Given the description of an element on the screen output the (x, y) to click on. 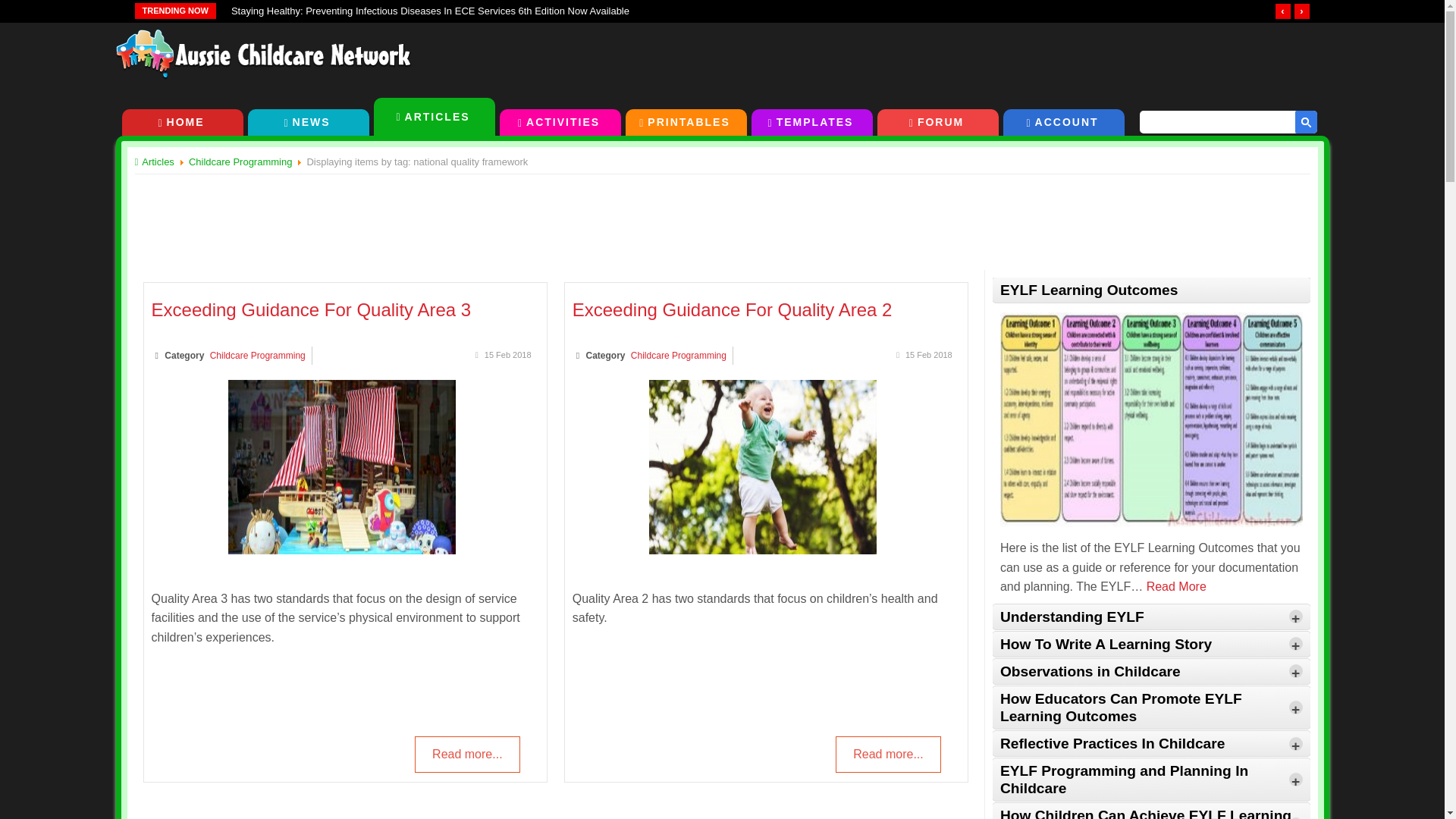
ARTICLES (433, 116)
TEMPLATES (811, 121)
Advertisement (721, 213)
Childcare Programming (257, 355)
ACTIVITIES (559, 121)
NEWS (307, 121)
Read more... (466, 754)
Advertisement (984, 59)
Exceeding Guidance For Quality Area 3 (341, 549)
Exceeding Guidance For Quality Area 2 (732, 309)
